Given the description of an element on the screen output the (x, y) to click on. 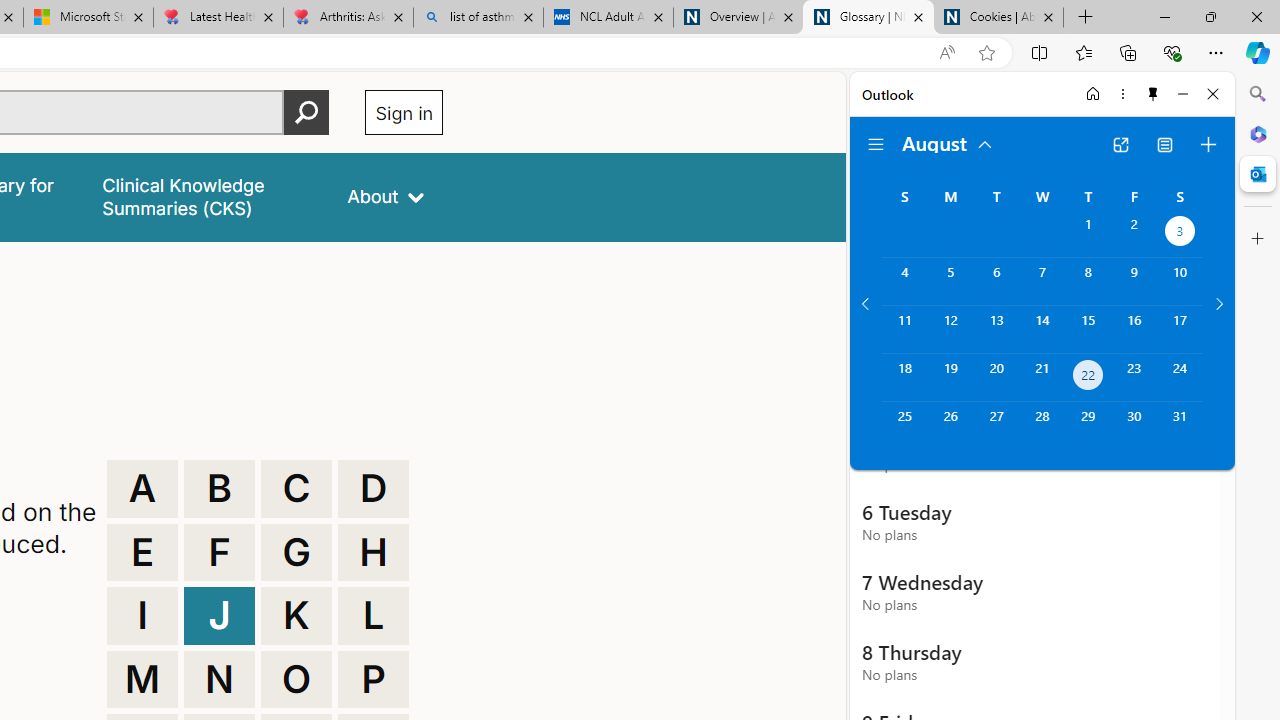
L (373, 615)
P (373, 679)
H (373, 551)
N (219, 679)
F (219, 551)
Create event (1208, 144)
P (373, 679)
Folder navigation (876, 144)
O (296, 679)
Saturday, August 31, 2024.  (1180, 425)
C (296, 488)
